Given the description of an element on the screen output the (x, y) to click on. 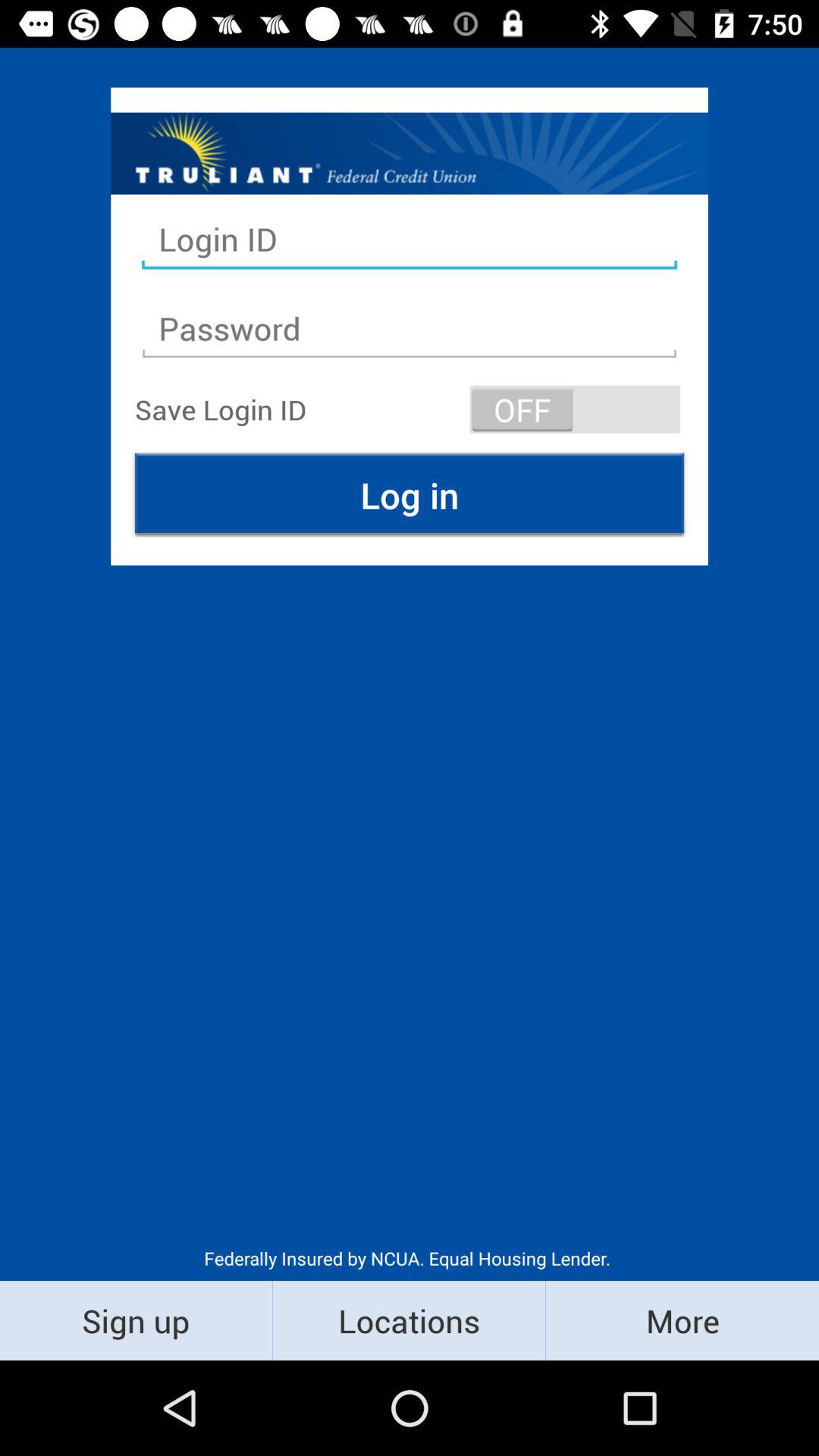
tap the more icon (682, 1320)
